Given the description of an element on the screen output the (x, y) to click on. 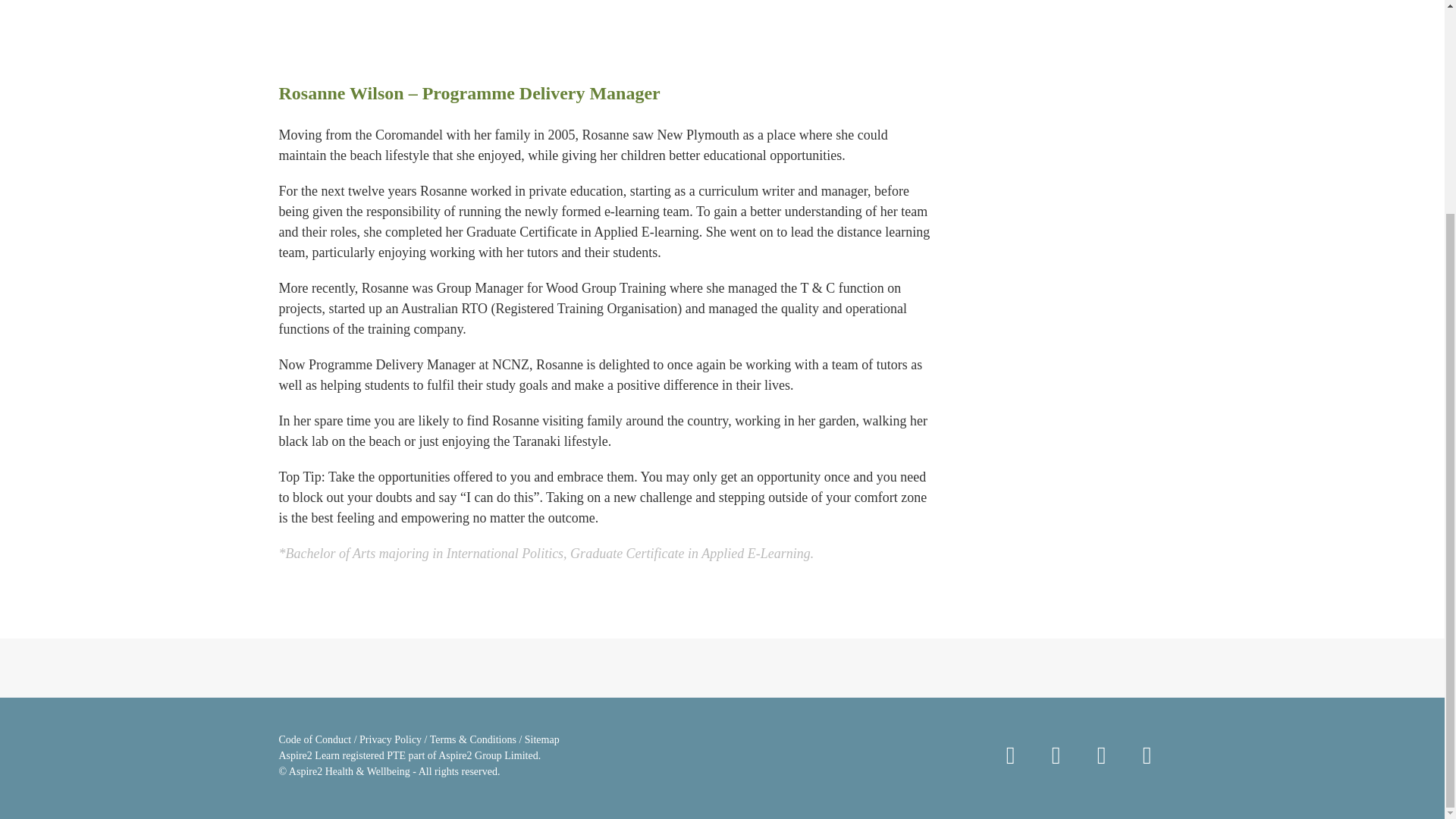
Privacy Policy (390, 738)
Code of Conduct (315, 738)
2019.Rosanne Wilson.Cropped.Inside.JPEG (1068, 158)
Sitemap (541, 738)
